Given the description of an element on the screen output the (x, y) to click on. 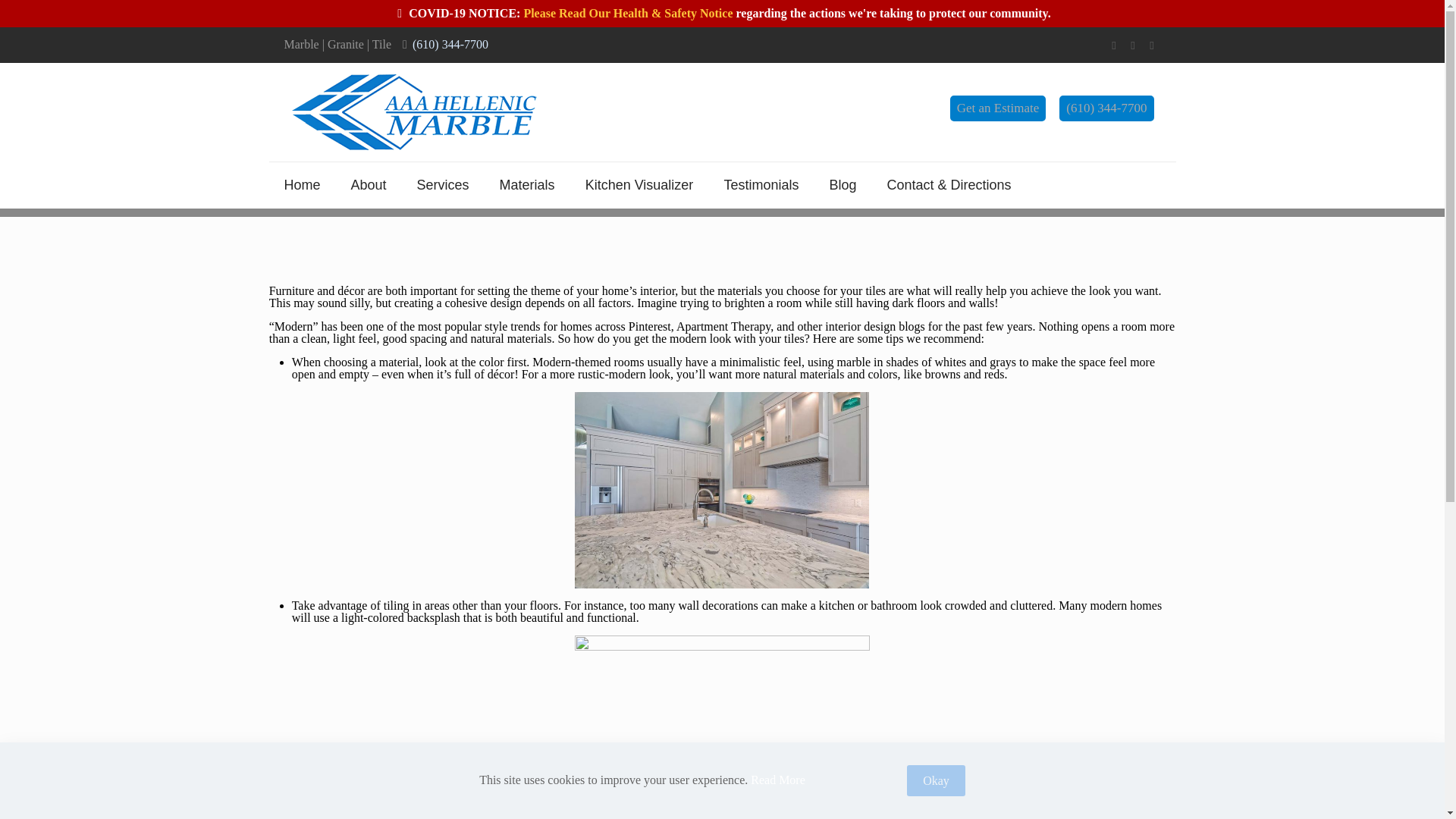
Blog (841, 185)
Kitchen Visualizer (639, 185)
Testimonials (760, 185)
YouTube (1152, 45)
Facebook (1113, 45)
Services (442, 185)
About (368, 185)
Materials (527, 185)
Get an Estimate (998, 108)
Home (300, 185)
